Given the description of an element on the screen output the (x, y) to click on. 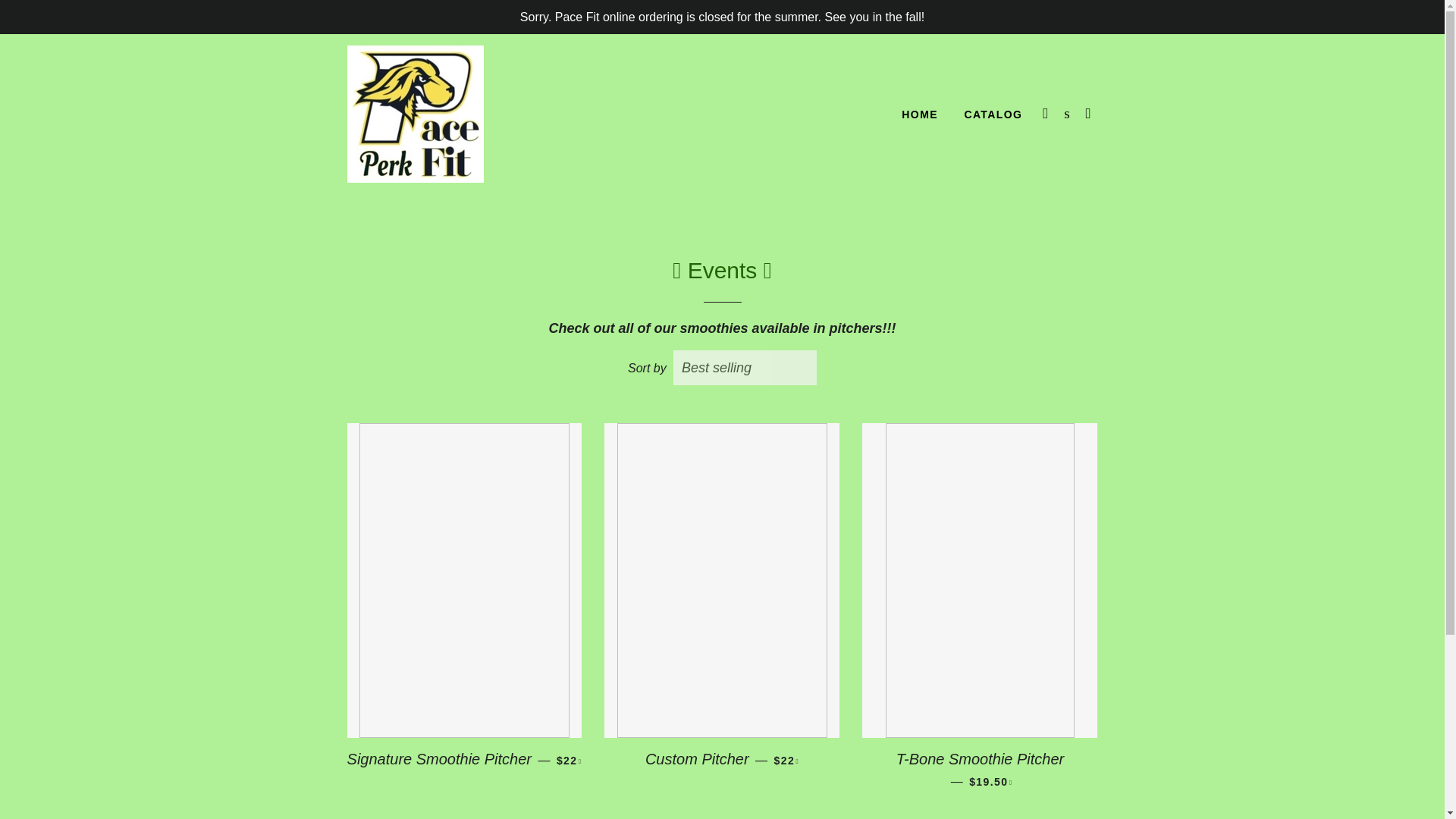
CATALOG (992, 115)
HOME (919, 115)
